Given the description of an element on the screen output the (x, y) to click on. 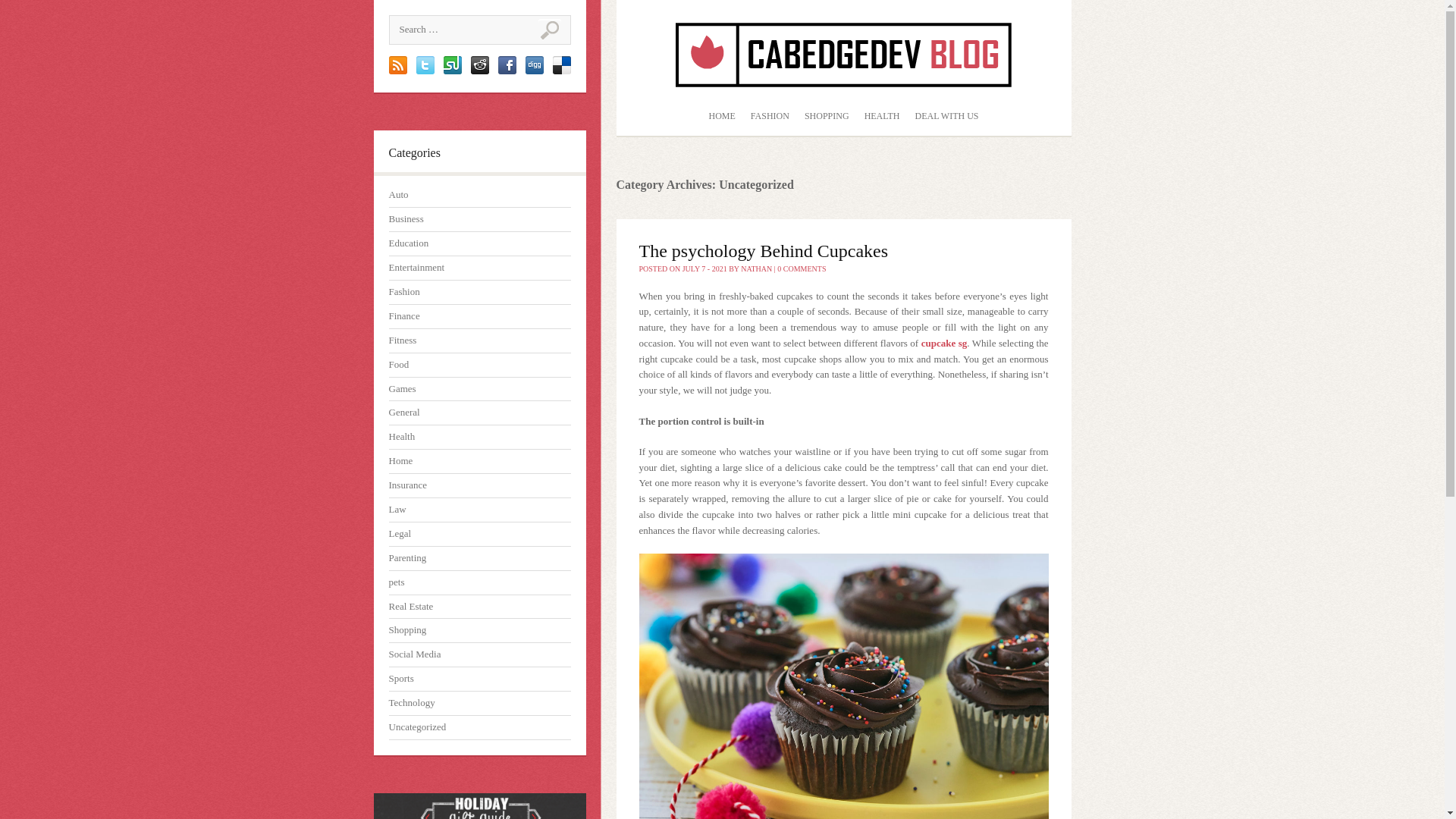
Submit to  delicious. (560, 70)
HOME (721, 116)
Games (401, 388)
Home (400, 460)
Auto (397, 194)
Law (397, 509)
Insurance (407, 484)
Real Estate (410, 605)
Health (401, 436)
Fitness (402, 339)
FASHION (769, 116)
Business (405, 218)
Digg this! (533, 70)
StumbleUpon. (451, 70)
Fashion (403, 291)
